Given the description of an element on the screen output the (x, y) to click on. 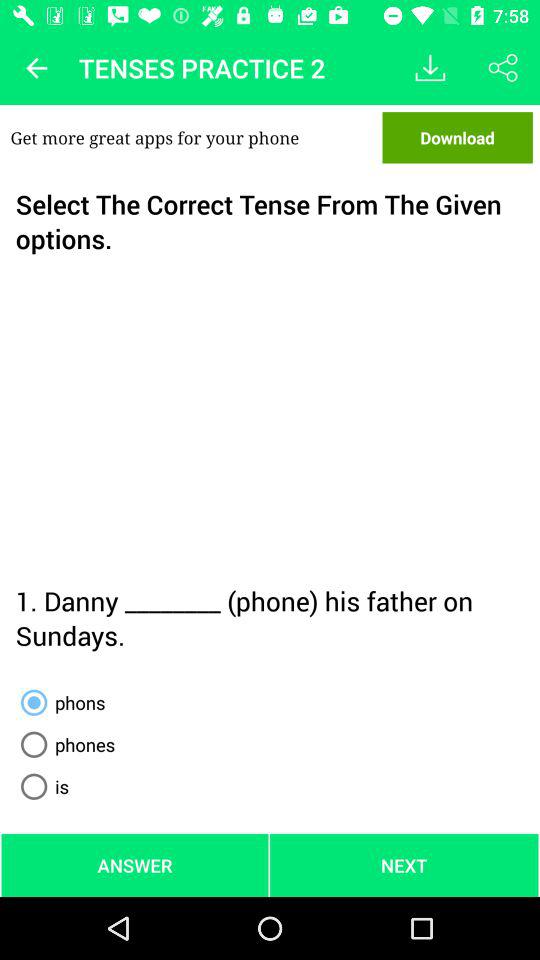
turn on answer item (134, 864)
